Given the description of an element on the screen output the (x, y) to click on. 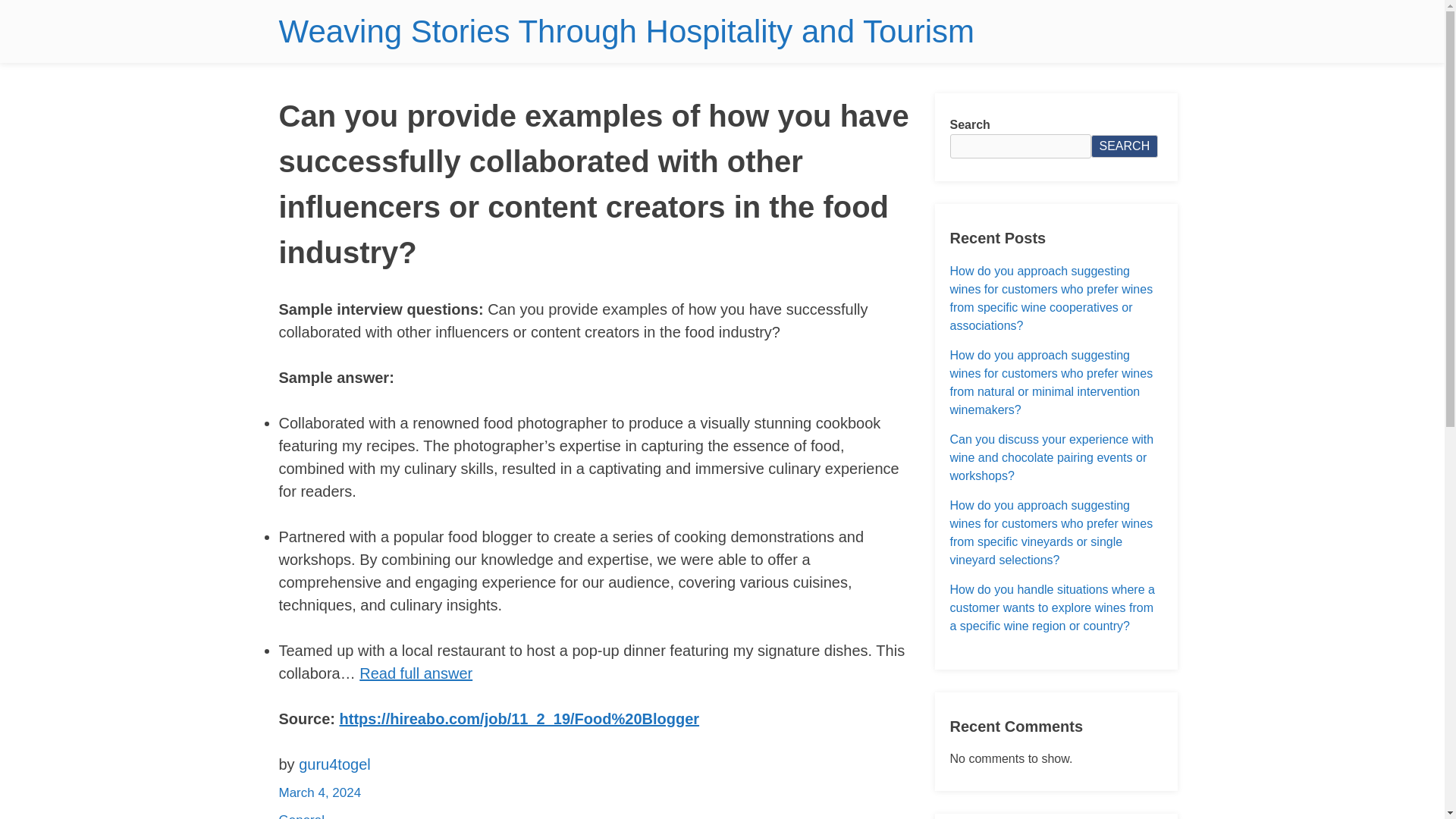
SEARCH (1123, 146)
March 4, 2024 (320, 792)
General (301, 816)
guru4togel (334, 764)
Weaving Stories Through Hospitality and Tourism (626, 31)
